Given the description of an element on the screen output the (x, y) to click on. 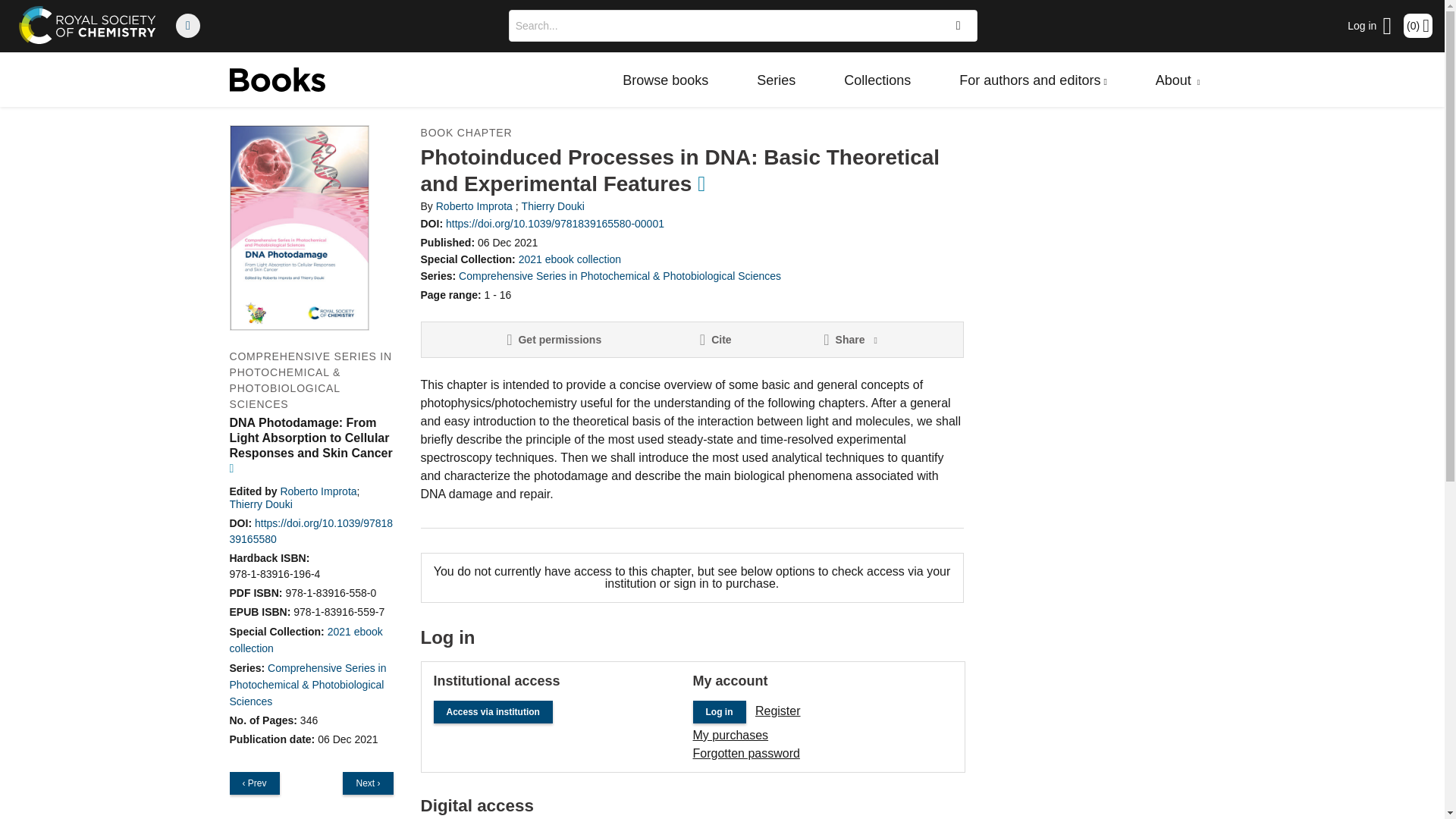
Collections (877, 79)
Thierry Douki (260, 503)
Log in (1369, 25)
Series (775, 79)
Browse books (665, 79)
For authors and editors (1032, 79)
Roberto Improta (317, 491)
search input (721, 25)
About (1177, 79)
